Given the description of an element on the screen output the (x, y) to click on. 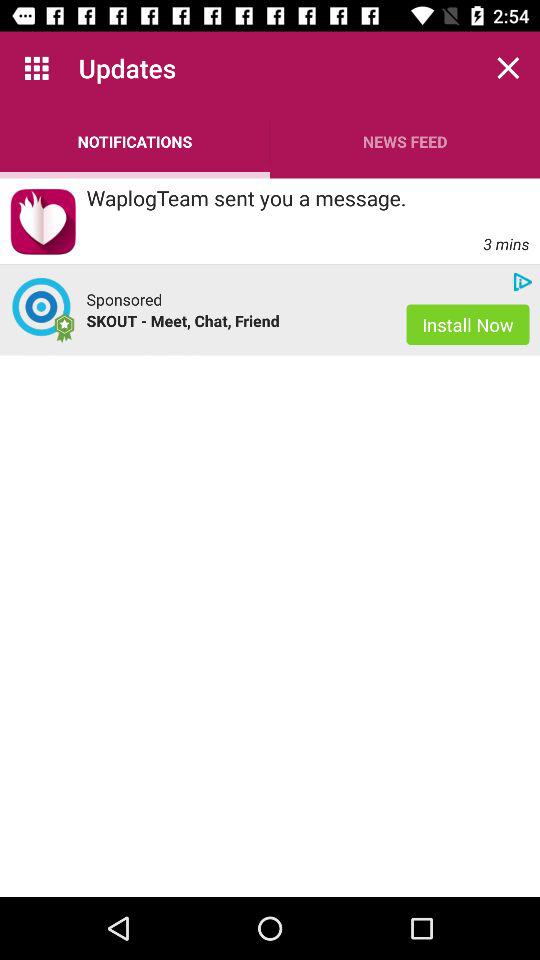
open app next to the updates item (36, 68)
